Given the description of an element on the screen output the (x, y) to click on. 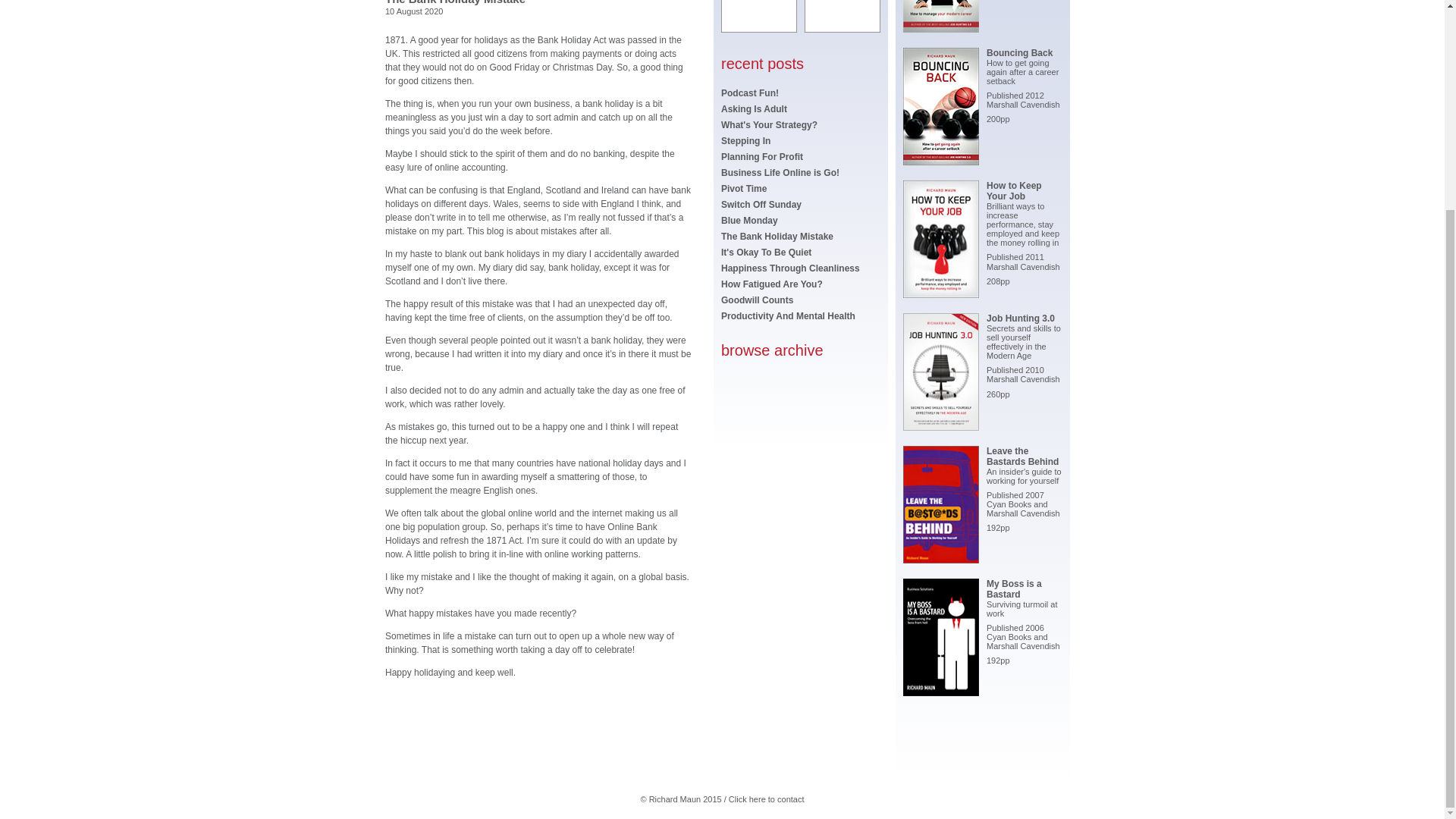
Podcast Fun! (749, 92)
Look What's Your Strategy? (768, 124)
Look Stepping In (745, 140)
Look Goodwill Counts (756, 299)
How Fatigued Are You? (771, 284)
Look Pivot Time (743, 188)
Blue Monday (748, 220)
Look Planning For Profit (761, 156)
Look It's Okay To Be Quiet (765, 252)
browse archive (772, 342)
Stepping In (745, 140)
Look How Fatigued Are You? (771, 284)
Switch Off Sunday (761, 204)
Look Podcast Fun! (749, 92)
What's Your Strategy? (768, 124)
